Given the description of an element on the screen output the (x, y) to click on. 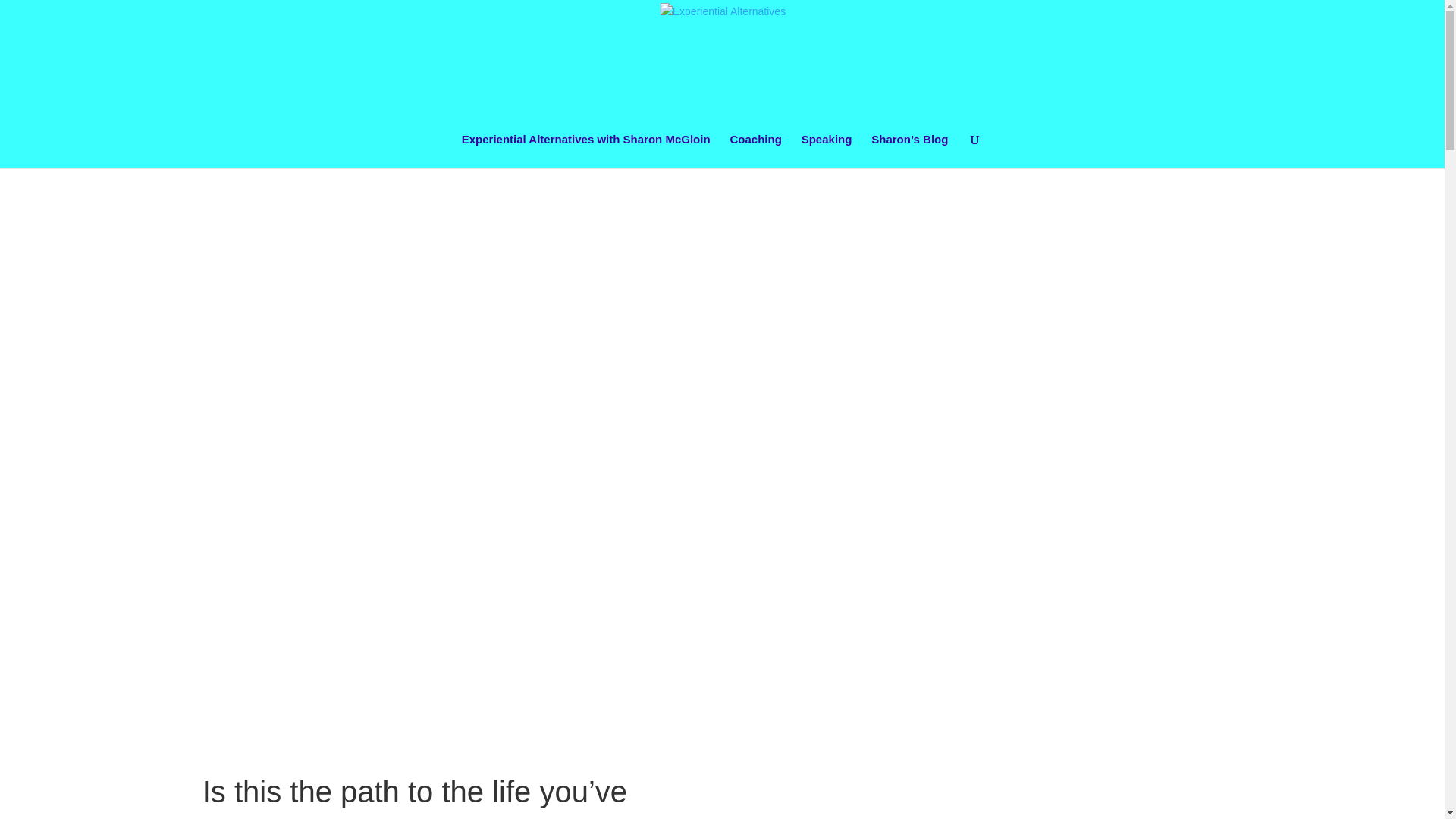
Coaching (754, 151)
Speaking (826, 151)
Experiential Alternatives with Sharon McGloin (585, 151)
